Given the description of an element on the screen output the (x, y) to click on. 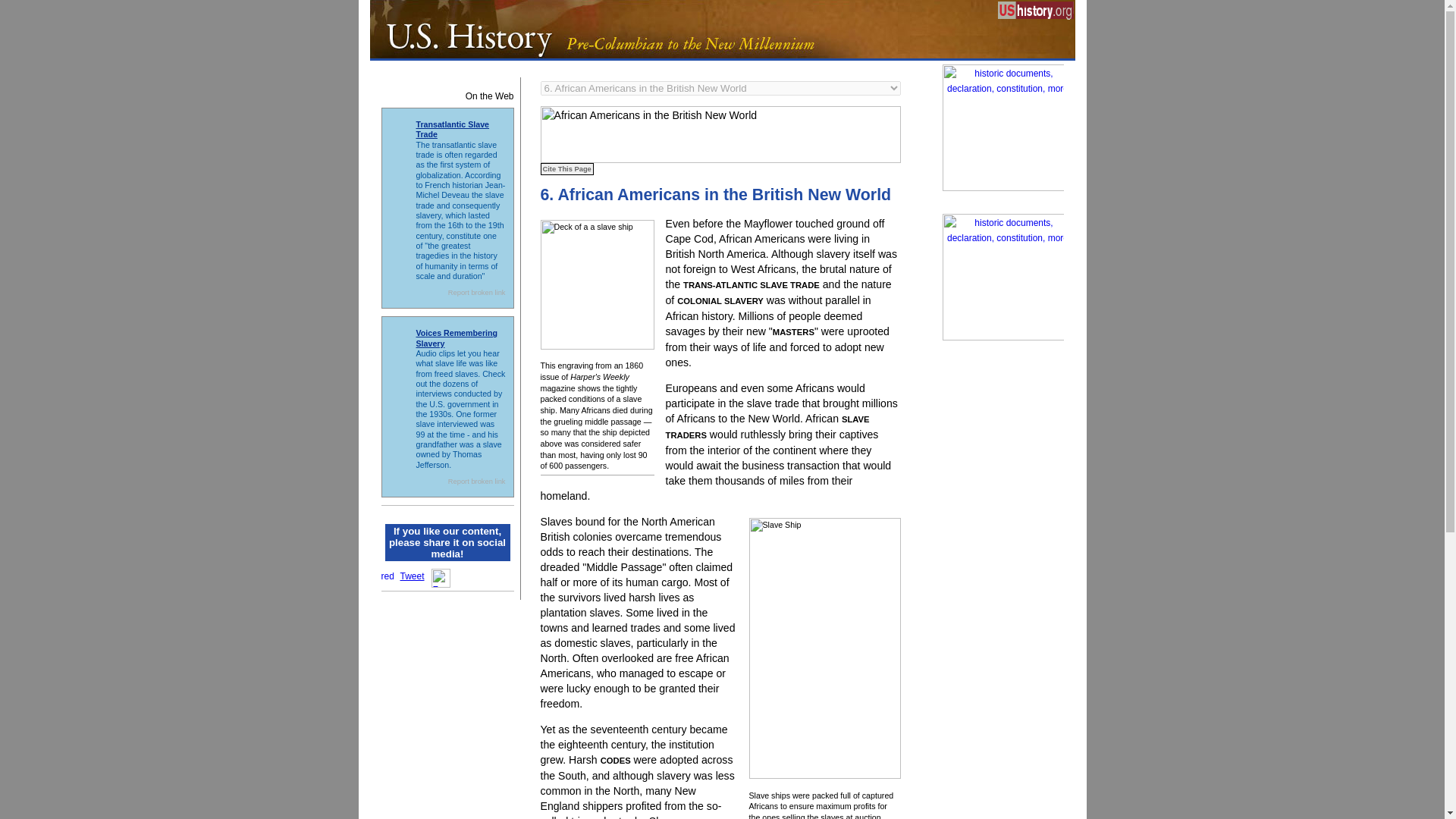
On the Web (447, 93)
Voices Remembering Slavery (455, 337)
Report broken link (476, 292)
ushistory.org Homepage (1035, 13)
The Broken Link reporting feature is temporarily unavailable (476, 481)
Tweet (412, 575)
Report broken link (476, 481)
Cite This Page (566, 168)
Cite This Page (566, 168)
reddit (386, 574)
